Given the description of an element on the screen output the (x, y) to click on. 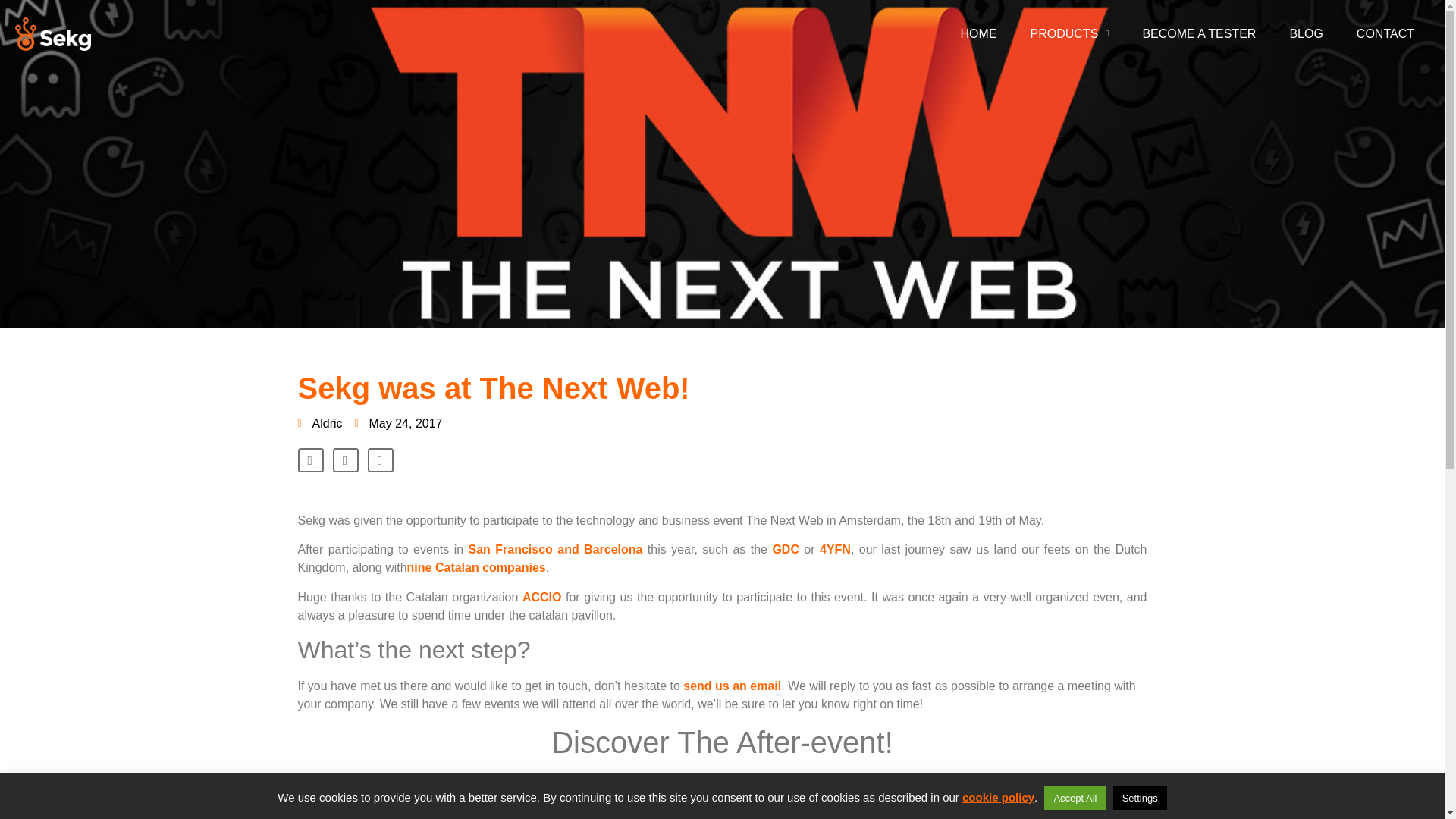
BECOME A TESTER (1198, 33)
GDC (785, 549)
4YFN (834, 549)
CONTACT (1384, 33)
PRODUCTS (1069, 33)
May 24, 2017 (398, 423)
BLOG (1306, 33)
cookie policy (997, 797)
Settings (1140, 797)
HOME (977, 33)
